Given the description of an element on the screen output the (x, y) to click on. 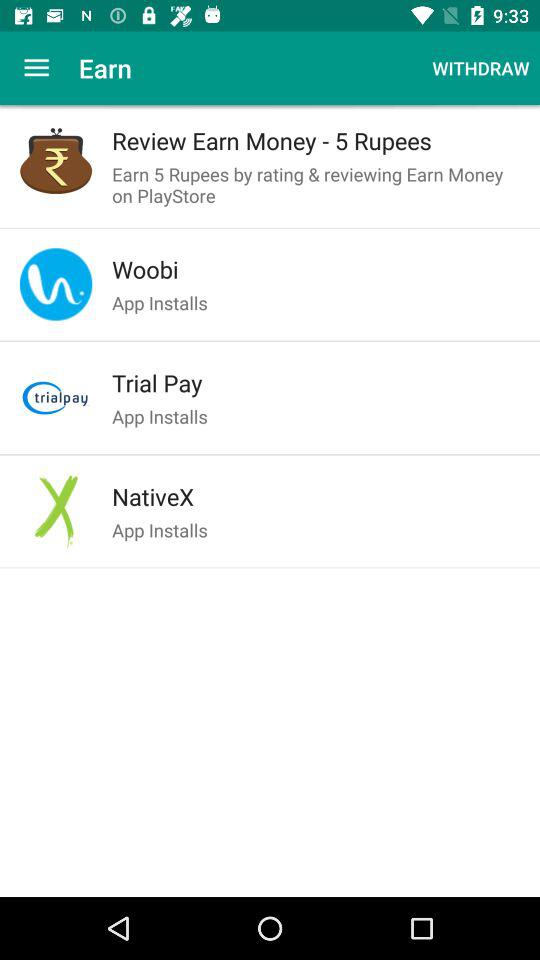
launch app next to earn app (480, 67)
